Given the description of an element on the screen output the (x, y) to click on. 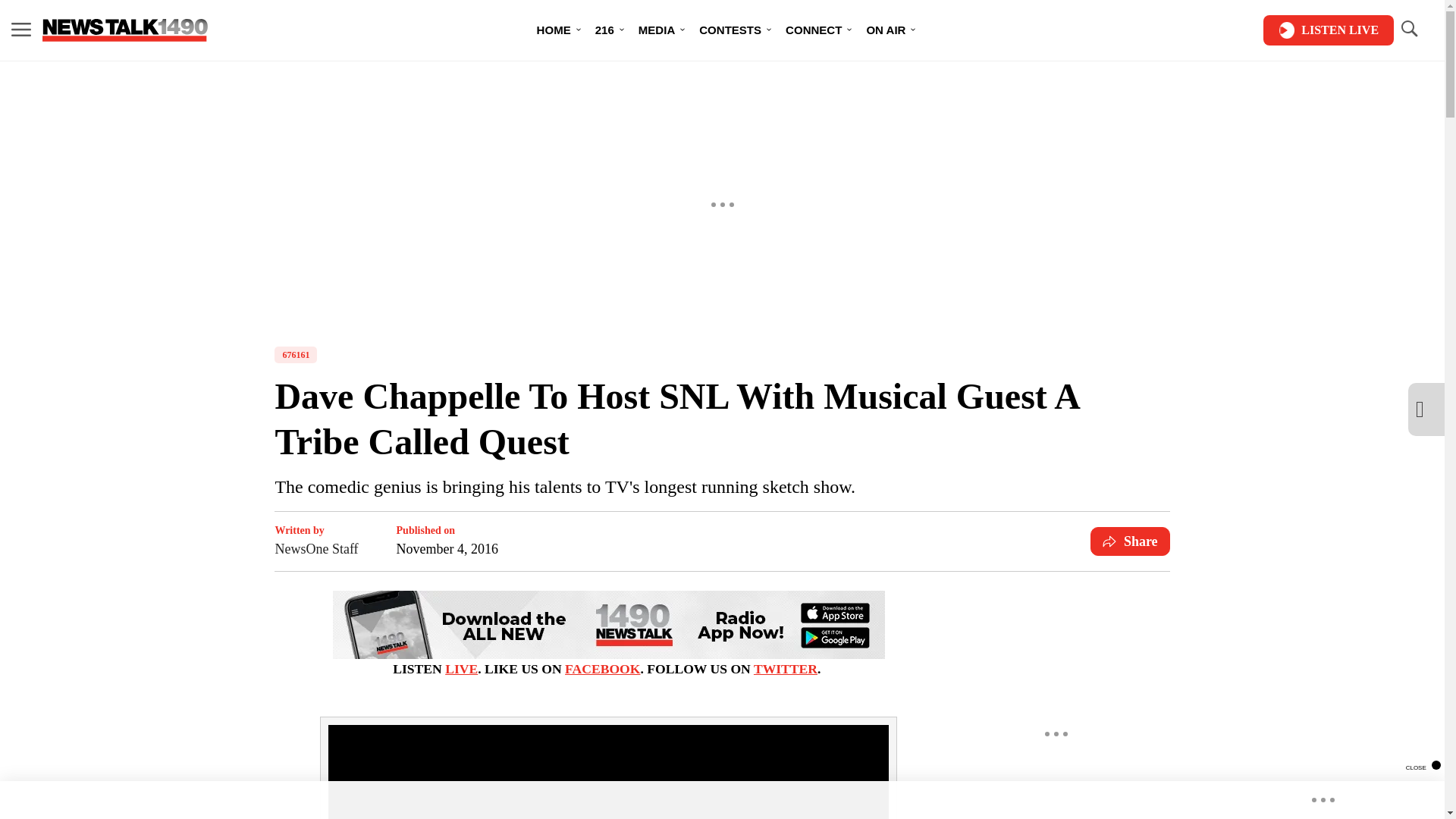
HOME (553, 30)
MENU (20, 30)
Share (1130, 541)
LIVE (461, 668)
TWITTER (785, 668)
ON AIR (885, 30)
MENU (20, 29)
TOGGLE SEARCH (1408, 30)
LISTEN LIVE (1328, 30)
FACEBOOK (602, 668)
CONNECT (813, 30)
CONTESTS (730, 30)
676161 (296, 354)
TOGGLE SEARCH (1408, 28)
MEDIA (656, 30)
